Given the description of an element on the screen output the (x, y) to click on. 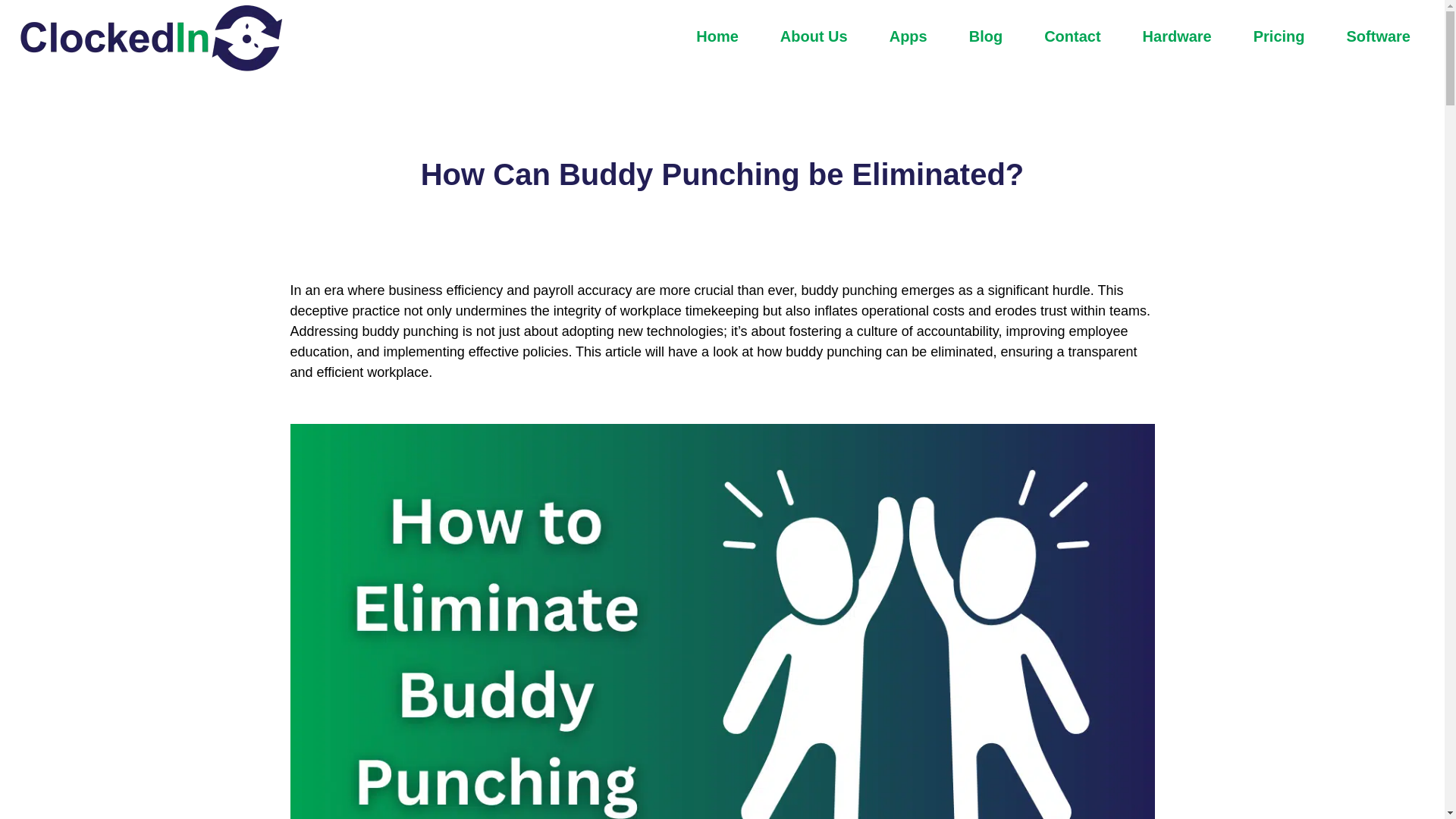
Home (717, 36)
Hardware (1176, 36)
About Us (814, 36)
Software (1378, 36)
Contact (1072, 36)
Pricing (1279, 36)
Apps (908, 36)
Blog (985, 36)
